Given the description of an element on the screen output the (x, y) to click on. 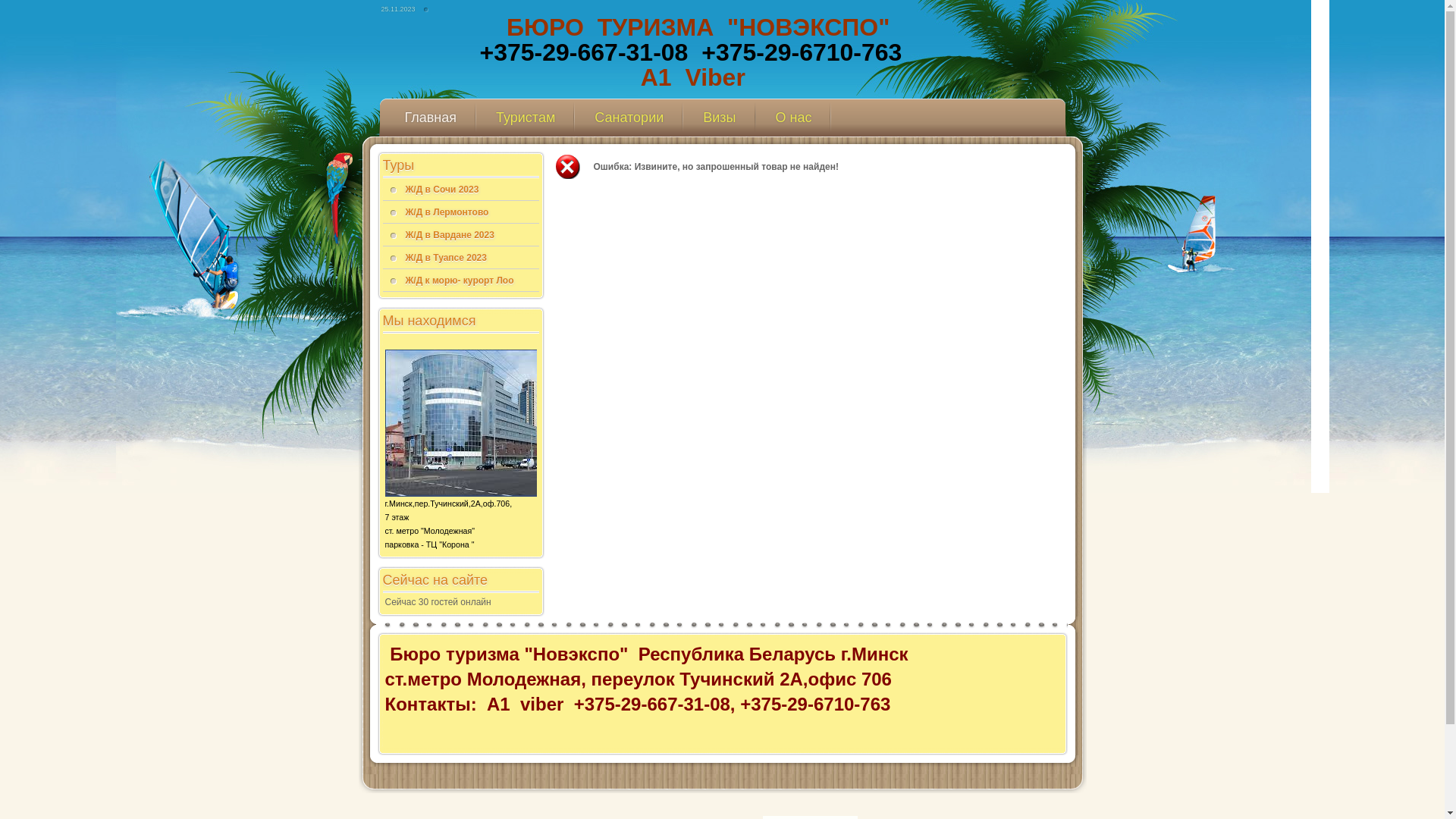
A1  Element type: text (662, 77)
+375-29-667-31-08 Element type: text (584, 51)
Viber Element type: text (714, 77)
+375-29-6710-763 Element type: text (801, 51)
